Given the description of an element on the screen output the (x, y) to click on. 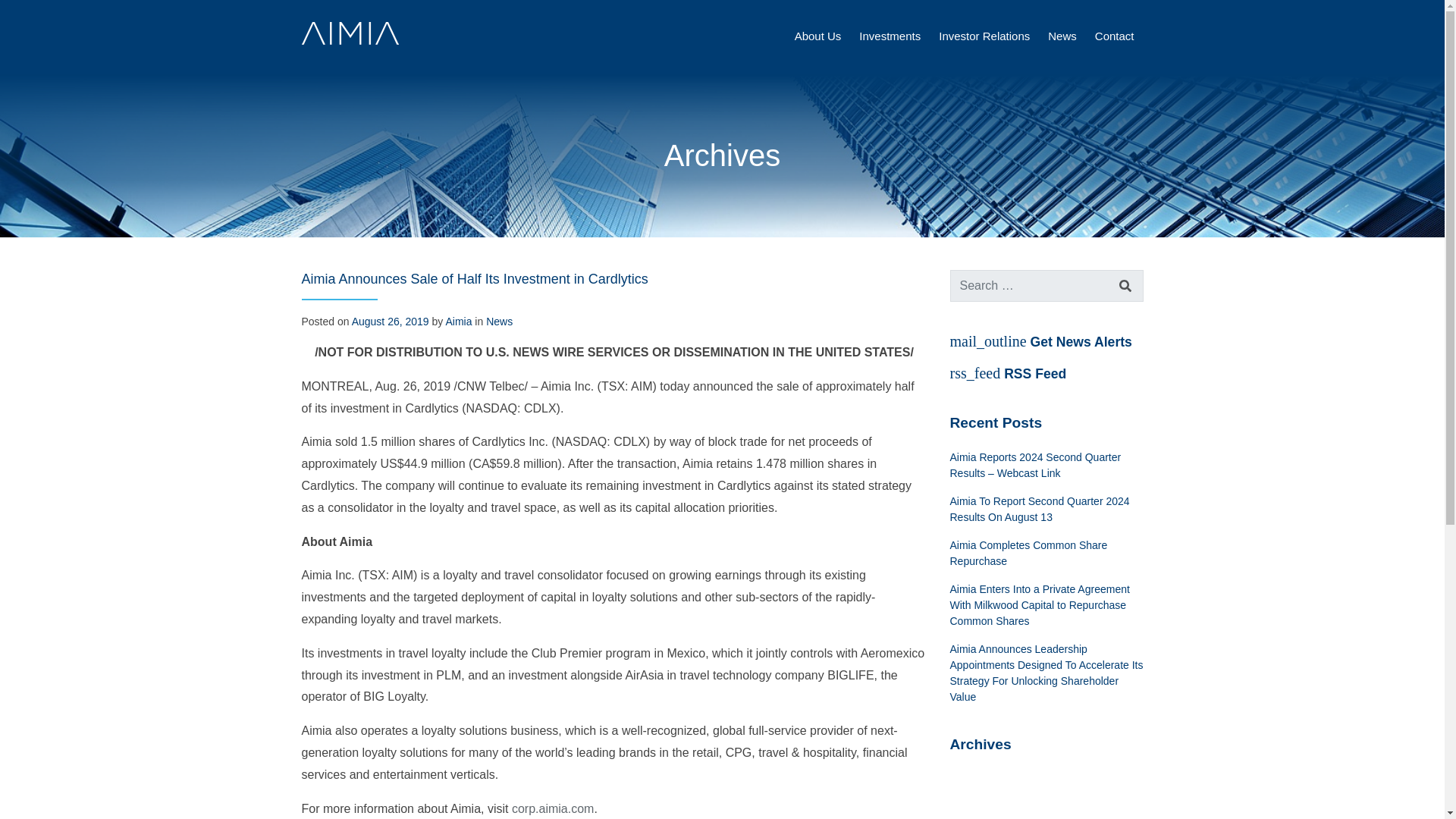
Aimia Completes Common Share Repurchase (1045, 553)
About Us (817, 36)
Contact (1114, 36)
Aimia (458, 321)
Investments (889, 36)
About Us (817, 36)
August 26, 2019 (390, 321)
Search for: (1045, 286)
Investor Relations (984, 36)
Contact (1114, 36)
